Given the description of an element on the screen output the (x, y) to click on. 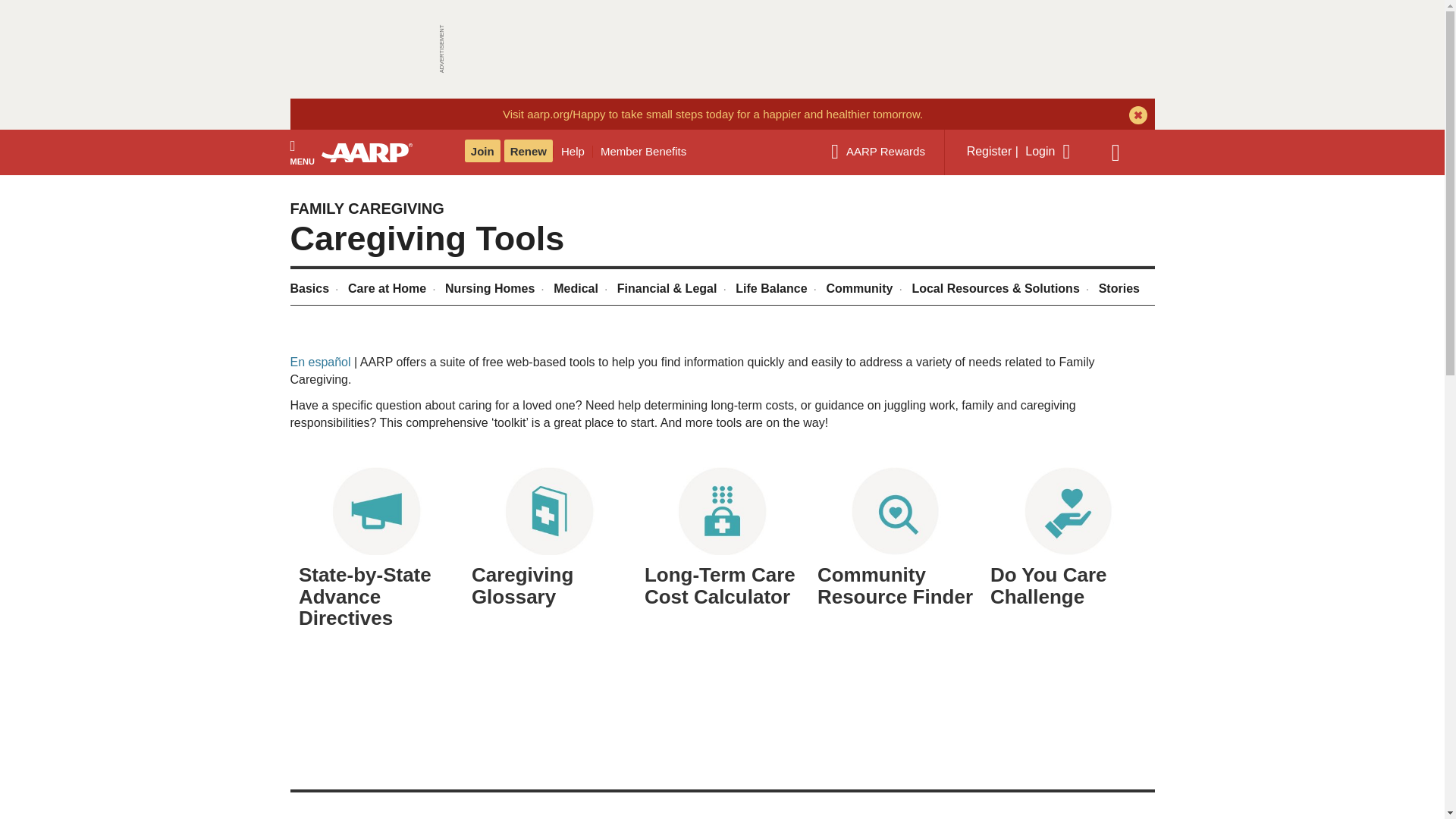
Search (1123, 152)
Homepage (373, 151)
Happy campaign (712, 113)
3rd party ad content (721, 49)
